Given the description of an element on the screen output the (x, y) to click on. 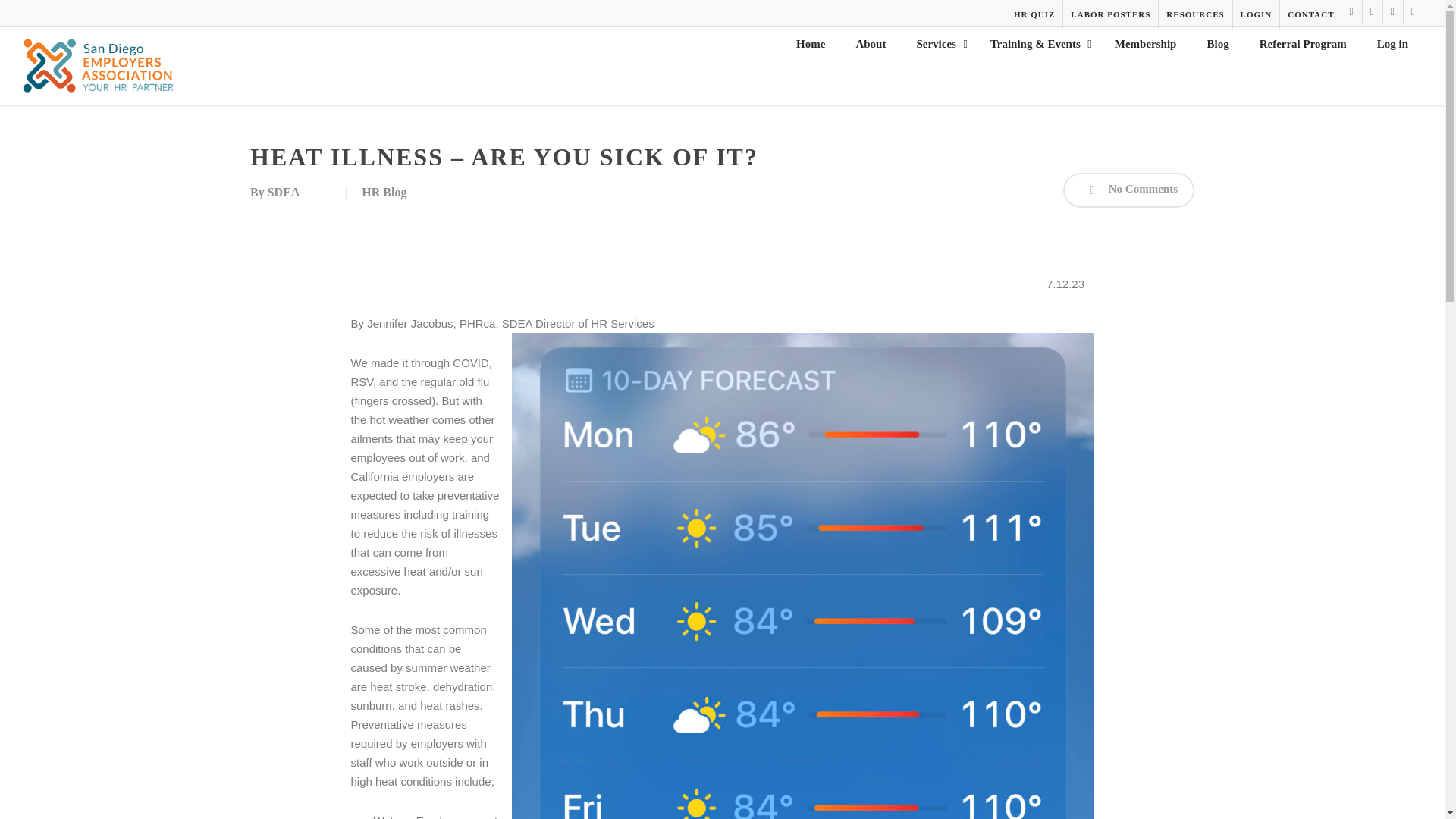
CONTACT (1309, 14)
RESOURCES (1194, 14)
LOGIN (1255, 14)
Posts by SDEA (283, 192)
About (870, 49)
HR QUIZ (1034, 14)
Home (810, 49)
LABOR POSTERS (1109, 14)
Services (937, 49)
